Given the description of an element on the screen output the (x, y) to click on. 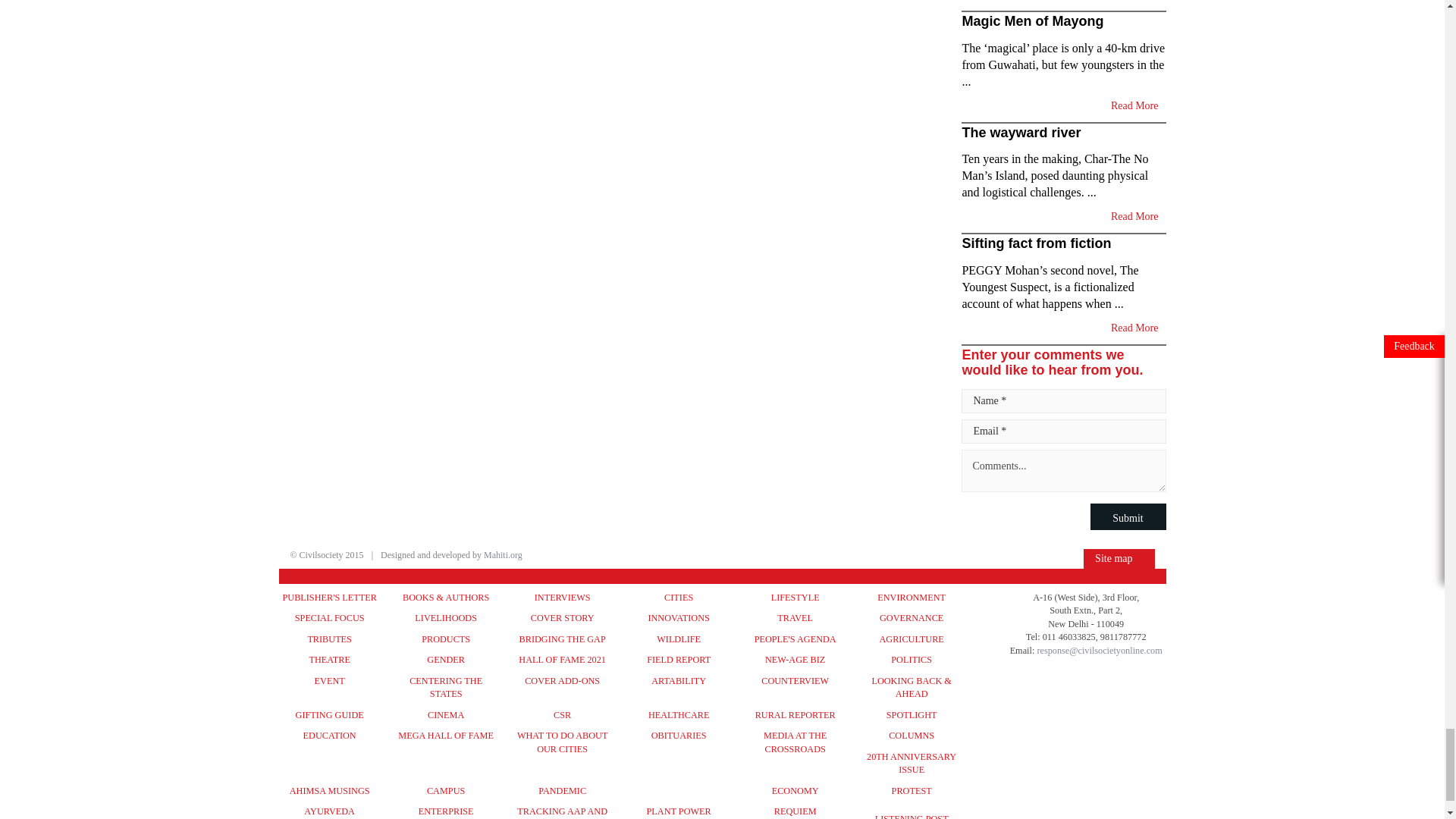
Submit (1128, 516)
